Given the description of an element on the screen output the (x, y) to click on. 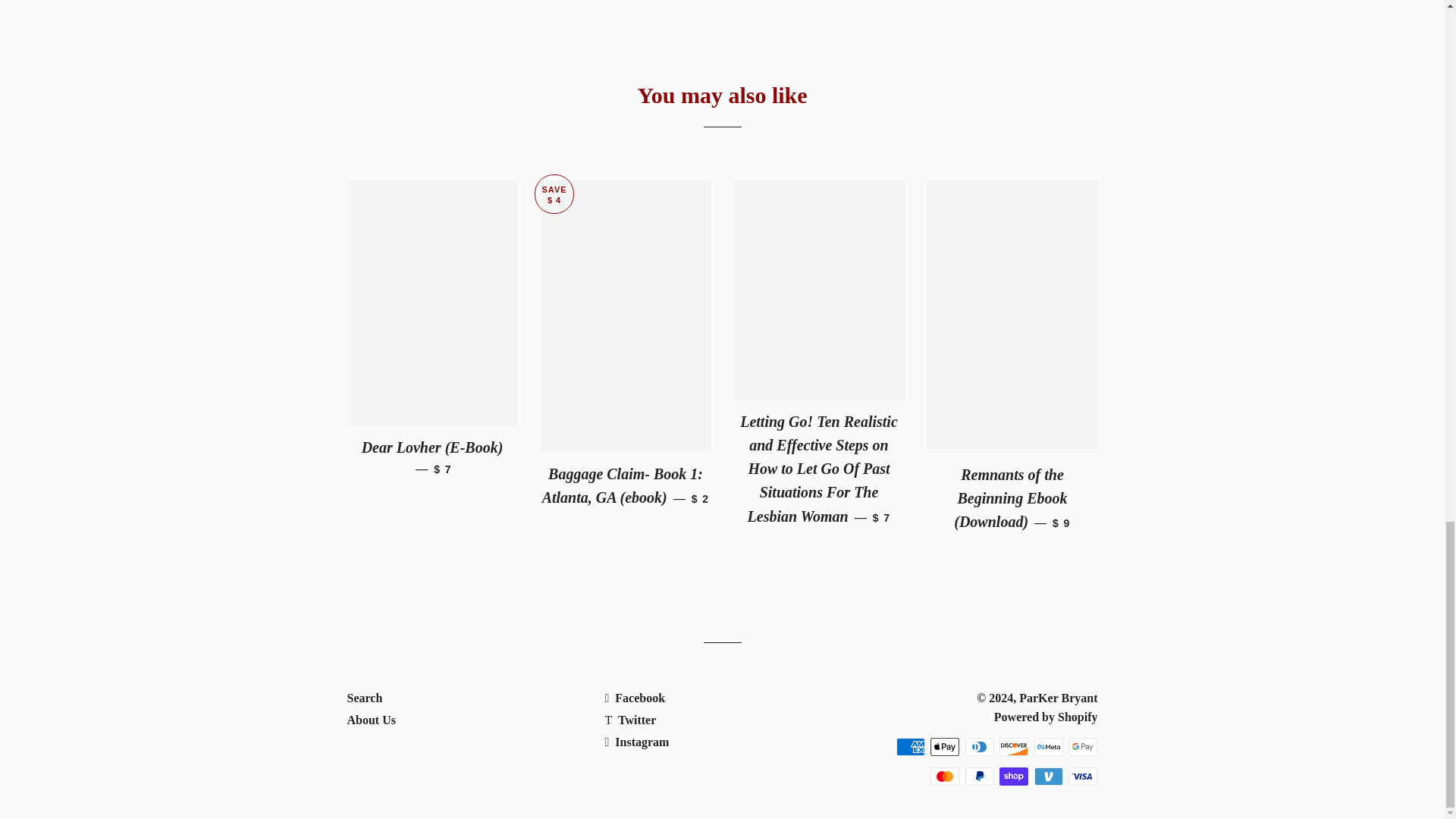
Apple Pay (944, 746)
PayPal (979, 776)
ParKer Bryant on Instagram (636, 741)
Visa (1082, 776)
Venmo (1047, 776)
Google Pay (1082, 746)
ParKer Bryant on Facebook (634, 697)
Mastercard (944, 776)
Diners Club (979, 746)
Pin on Pinterest (998, 3)
